Given the description of an element on the screen output the (x, y) to click on. 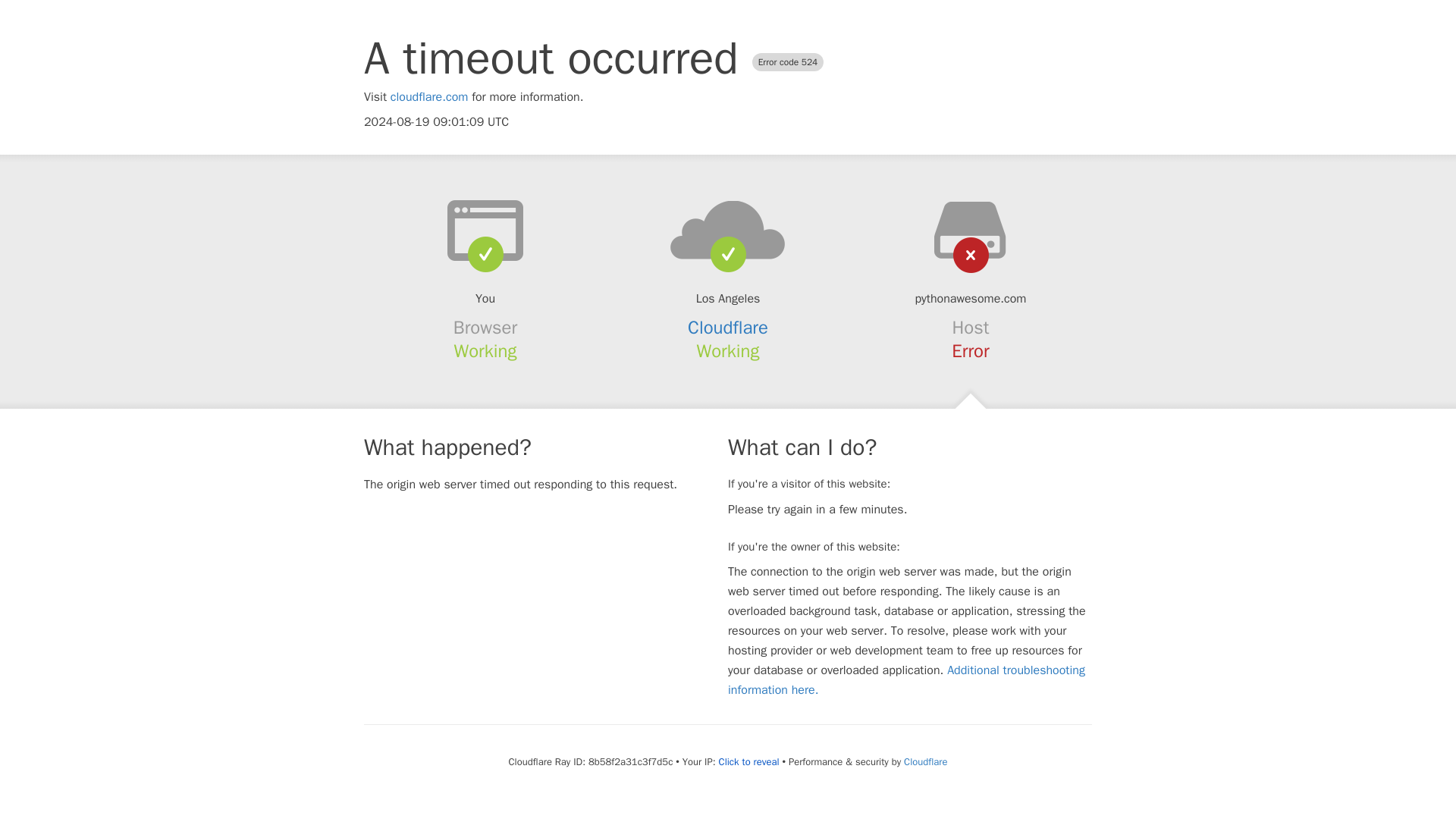
Click to reveal (748, 762)
Cloudflare (925, 761)
cloudflare.com (429, 96)
Cloudflare (727, 327)
Additional troubleshooting information here. (906, 679)
